Given the description of an element on the screen output the (x, y) to click on. 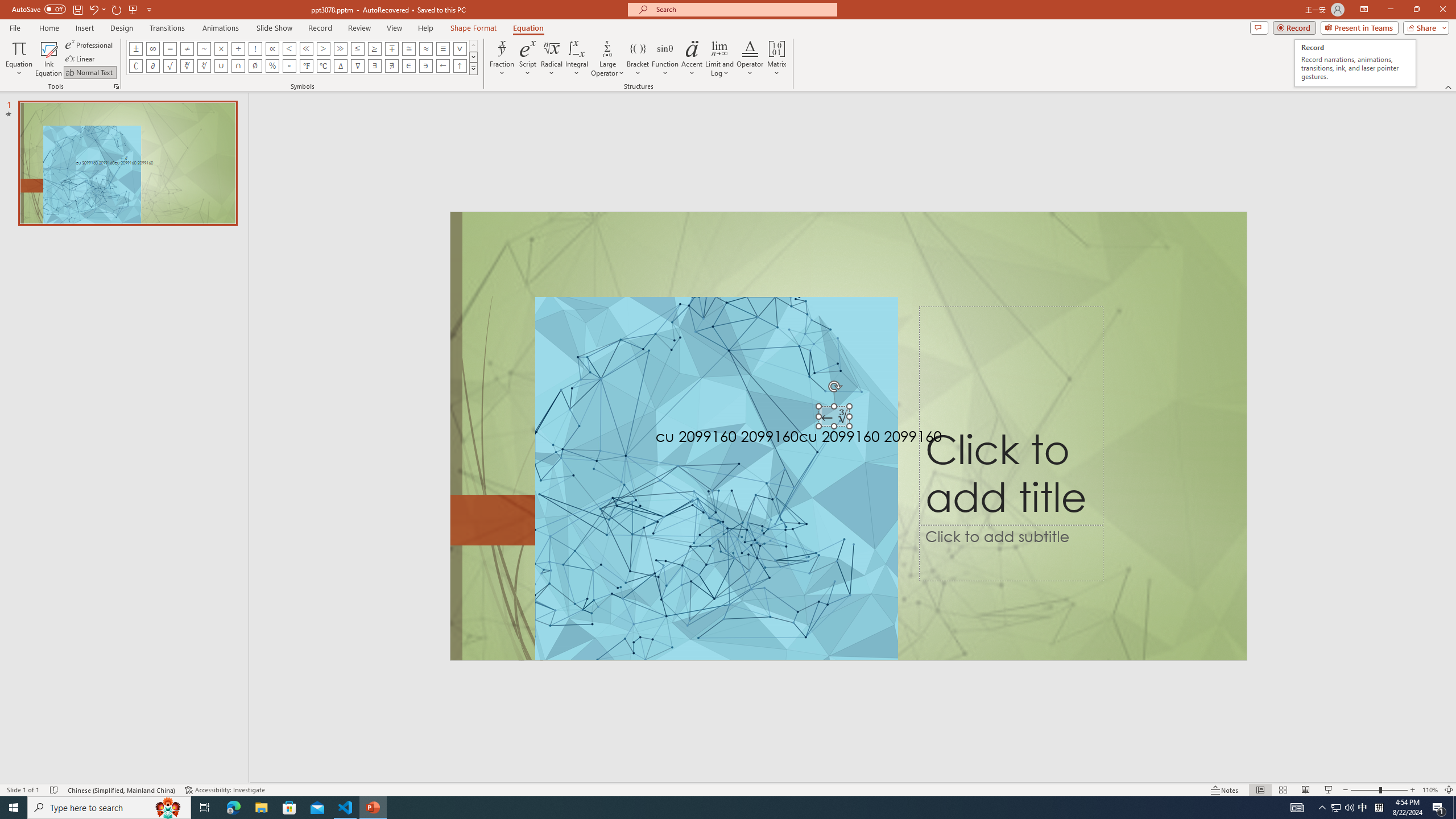
Equation Symbol For All (459, 48)
Function (664, 58)
Script (527, 58)
Equation Symbol Much Less Than (306, 48)
Equation Symbol Approximately (203, 48)
Equation Symbol Contains as Member (425, 65)
Equation Symbol Fourth Root (203, 65)
Bracket (638, 58)
Equation (18, 58)
Integral (576, 58)
Equation Symbol Greater Than or Equal To (374, 48)
Equation Symbol Plus Minus (136, 48)
